Given the description of an element on the screen output the (x, y) to click on. 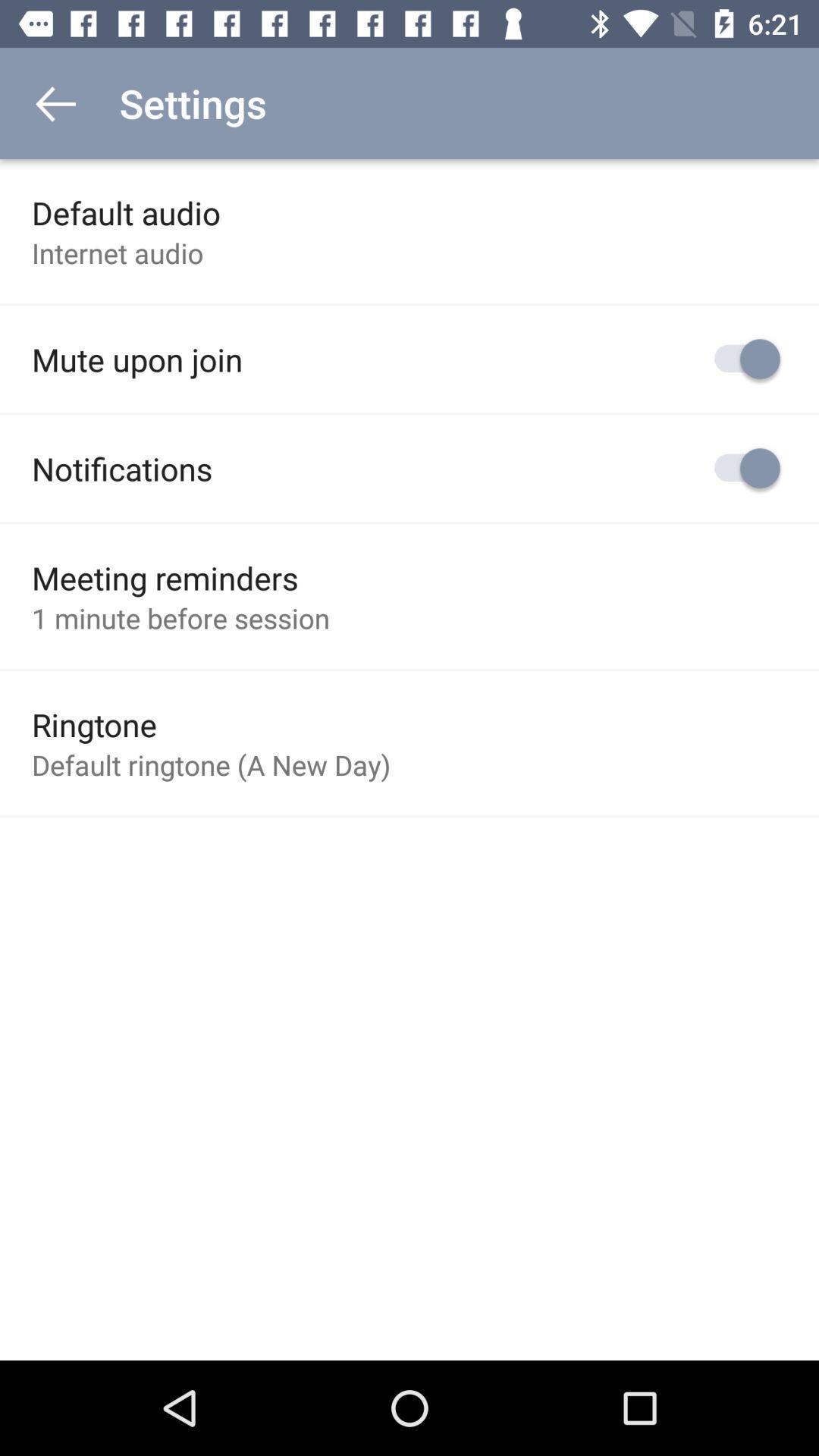
choose item below mute upon join icon (121, 468)
